Given the description of an element on the screen output the (x, y) to click on. 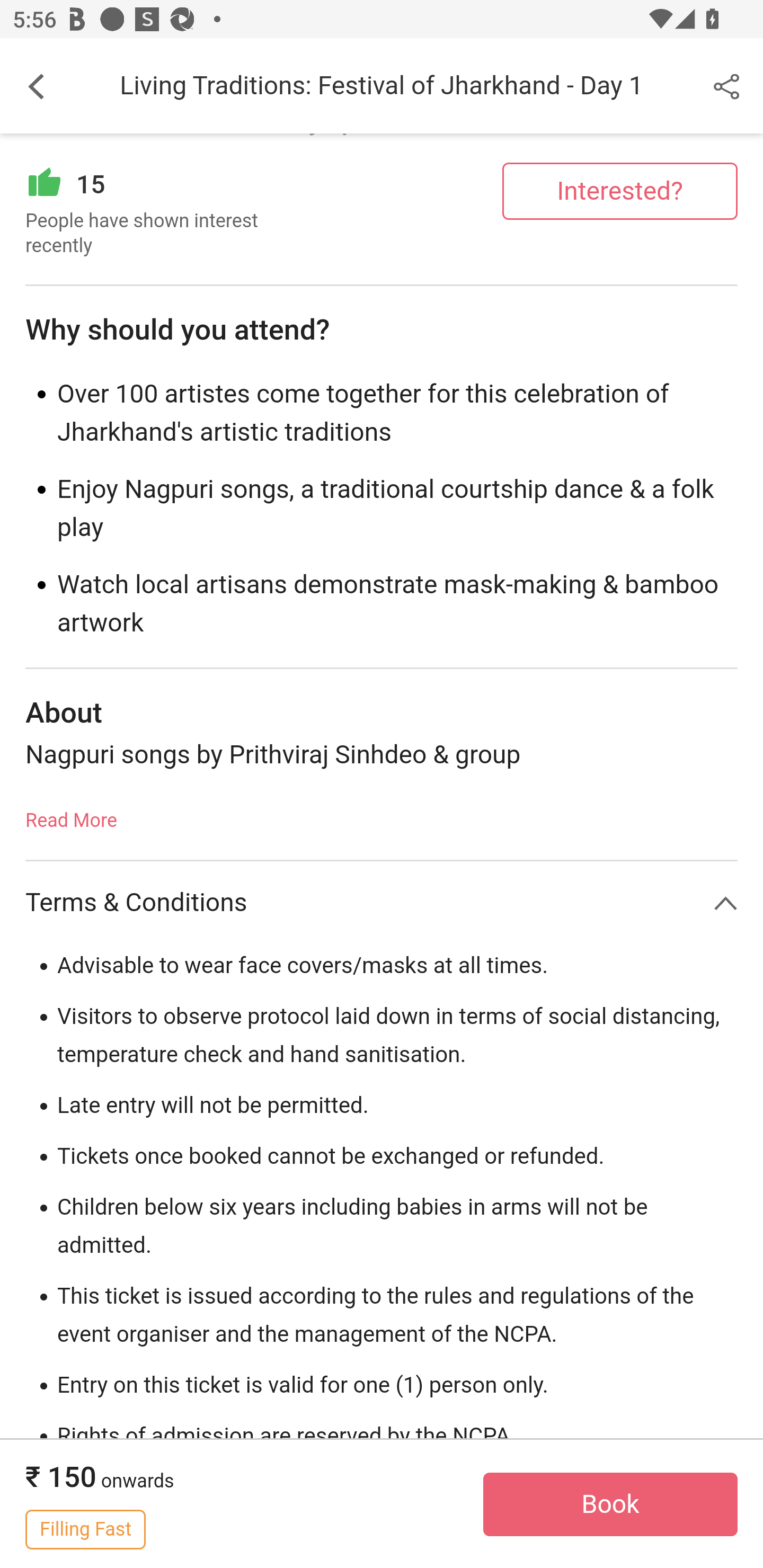
Interested? (619, 191)
Read More (71, 815)
Terms & Conditions (381, 902)
Book (609, 1505)
